Given the description of an element on the screen output the (x, y) to click on. 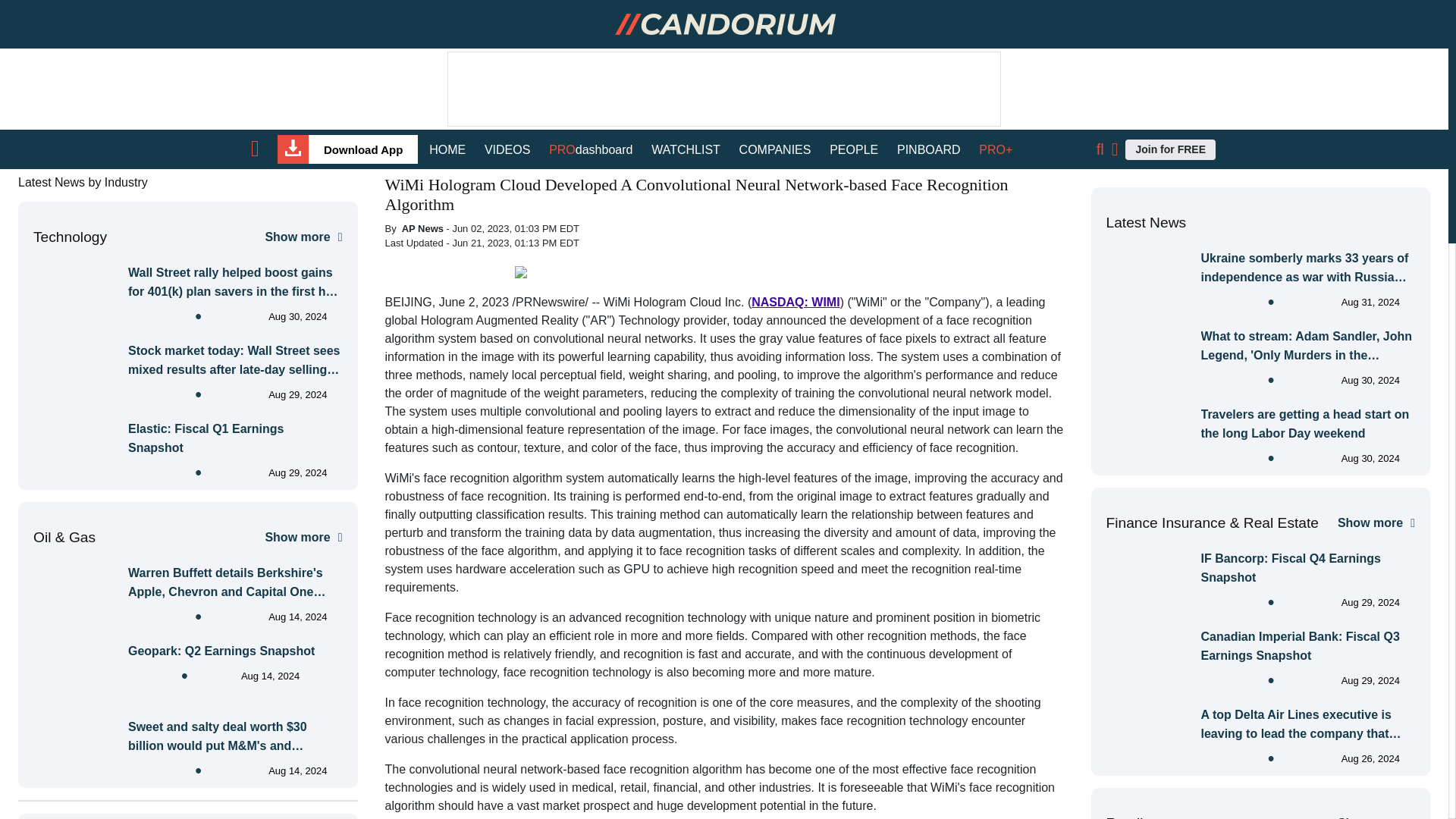
pro-pinboard (928, 148)
PRODashboard (589, 148)
pro-plus (994, 148)
PEOPLE (853, 148)
watchlist summary (685, 148)
Show more (303, 536)
Elastic: Fiscal Q1 Earnings Snapshot (235, 438)
NASDAQ: WIMI (795, 301)
